Given the description of an element on the screen output the (x, y) to click on. 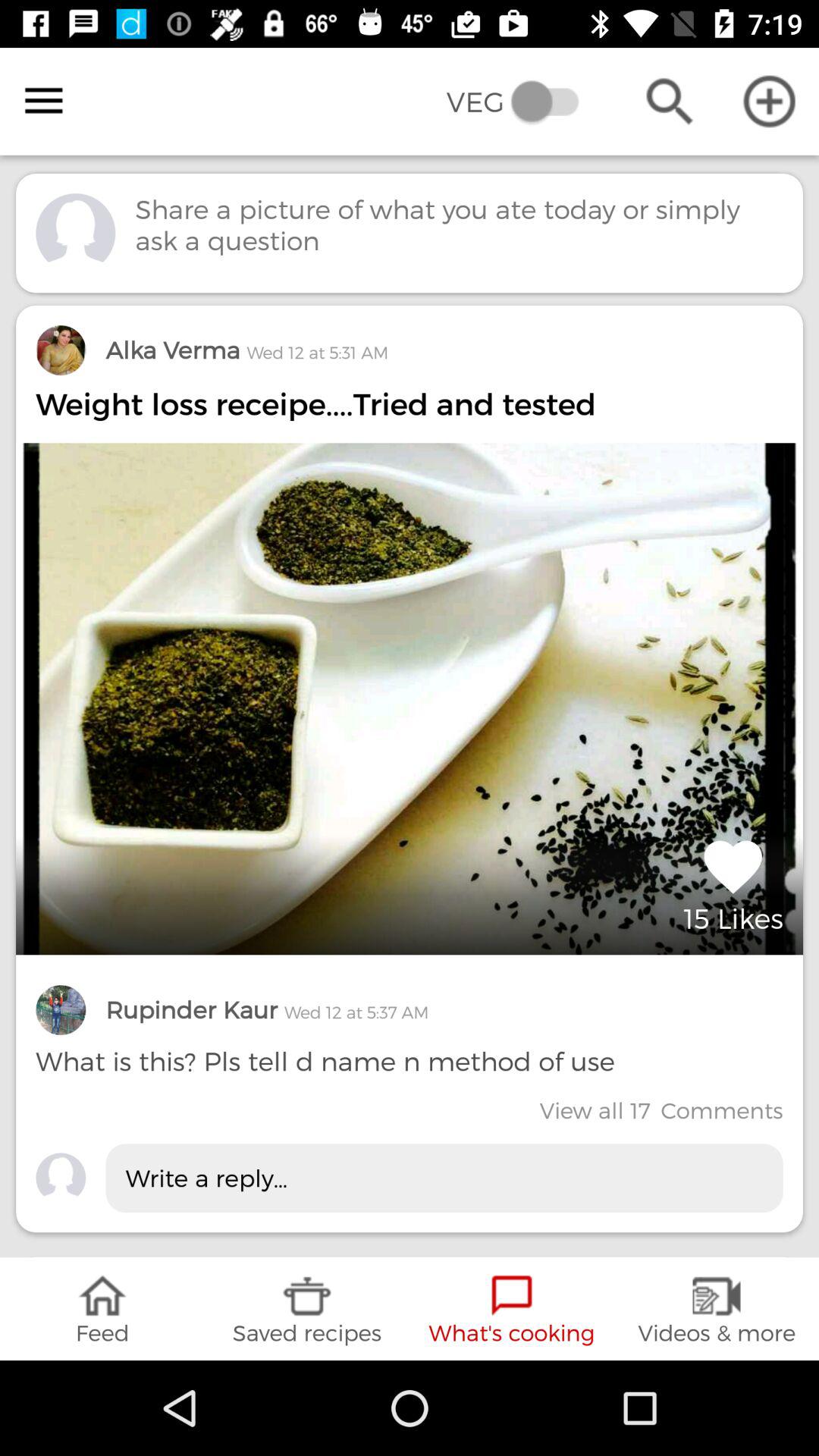
launch item below weight loss receipe (733, 883)
